Given the description of an element on the screen output the (x, y) to click on. 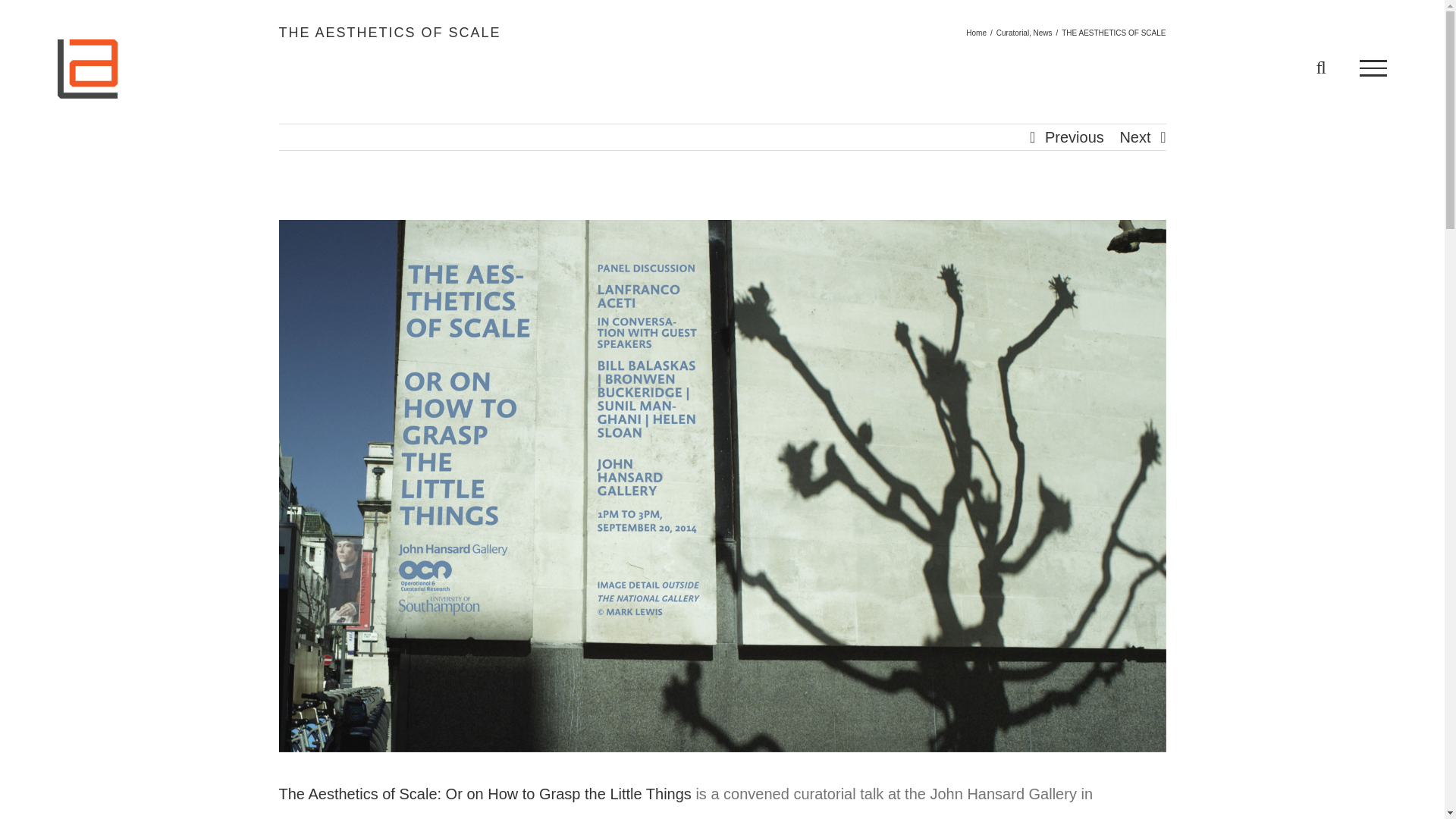
Talk (485, 793)
Curatorial (1012, 32)
Previous (1074, 136)
Next (1134, 136)
News (1041, 32)
Home (976, 32)
